Given the description of an element on the screen output the (x, y) to click on. 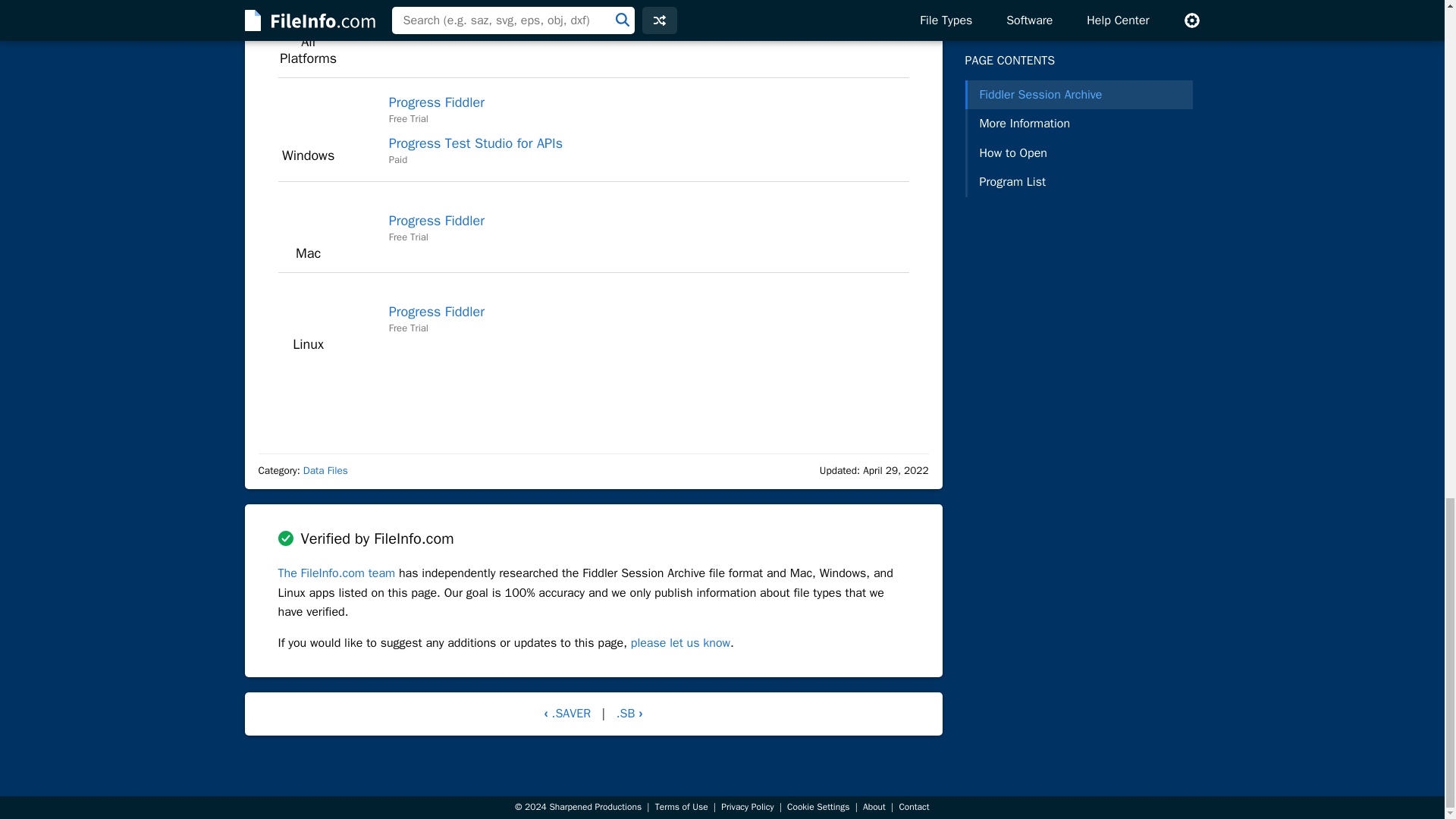
Progress Test Studio for APIs (475, 143)
Progress Fiddler (436, 220)
Progress Fiddler (436, 102)
Data Files (324, 470)
The FileInfo.com team (336, 572)
please let us know (680, 642)
Progress Fiddler (436, 311)
